Given the description of an element on the screen output the (x, y) to click on. 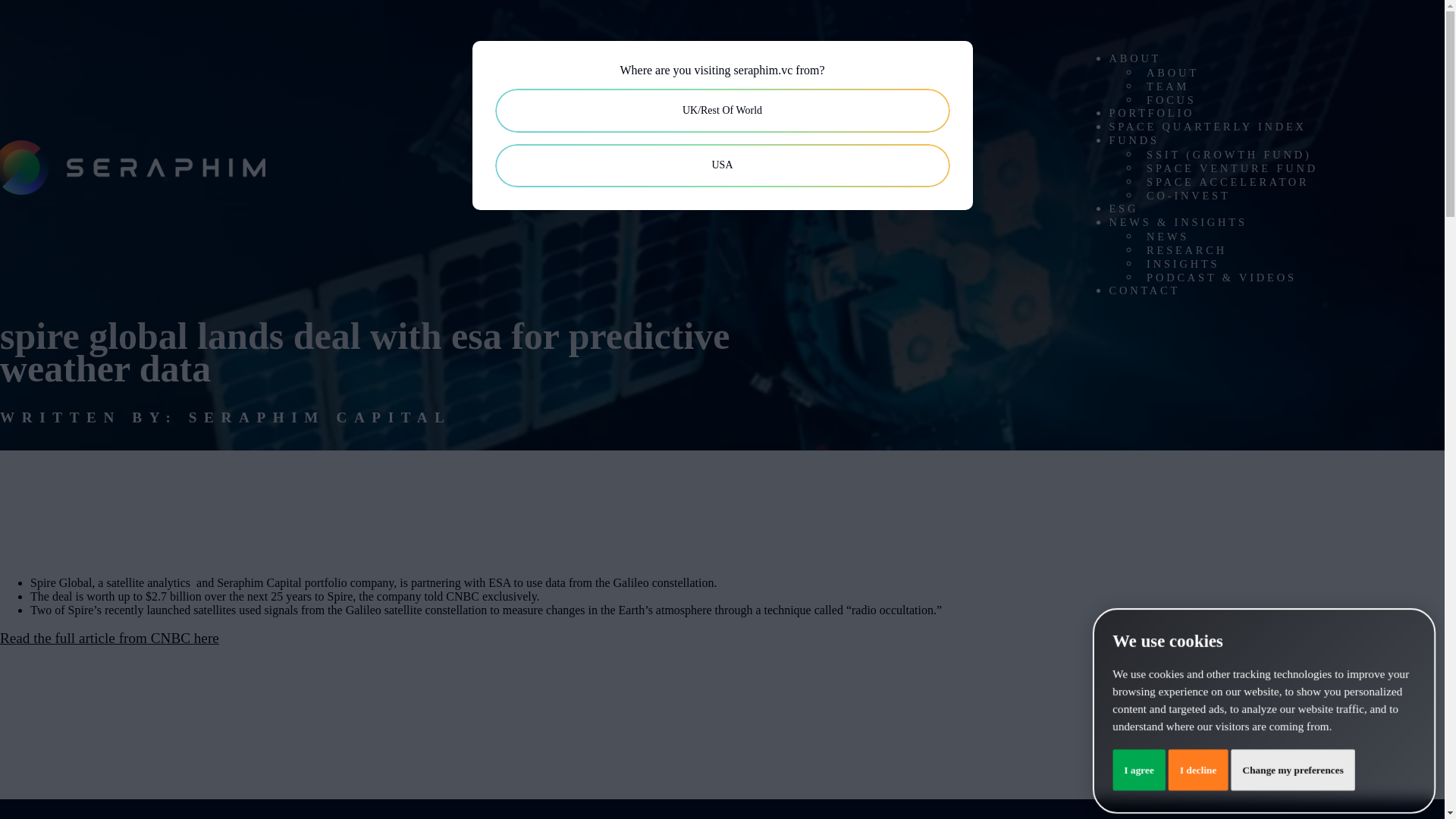
INSIGHTS (1181, 263)
Read the full article from CNBC here (109, 637)
ABOUT (1134, 58)
Funds (1133, 140)
About (1134, 58)
Change my preferences (1295, 771)
Portfolio (1150, 112)
NEWS (1166, 235)
RESEARCH (1185, 249)
Space Venture Fund (1231, 167)
FUNDS (1133, 140)
Research (1185, 249)
ESG (1123, 208)
News (1166, 235)
Co-invest (1187, 194)
